Given the description of an element on the screen output the (x, y) to click on. 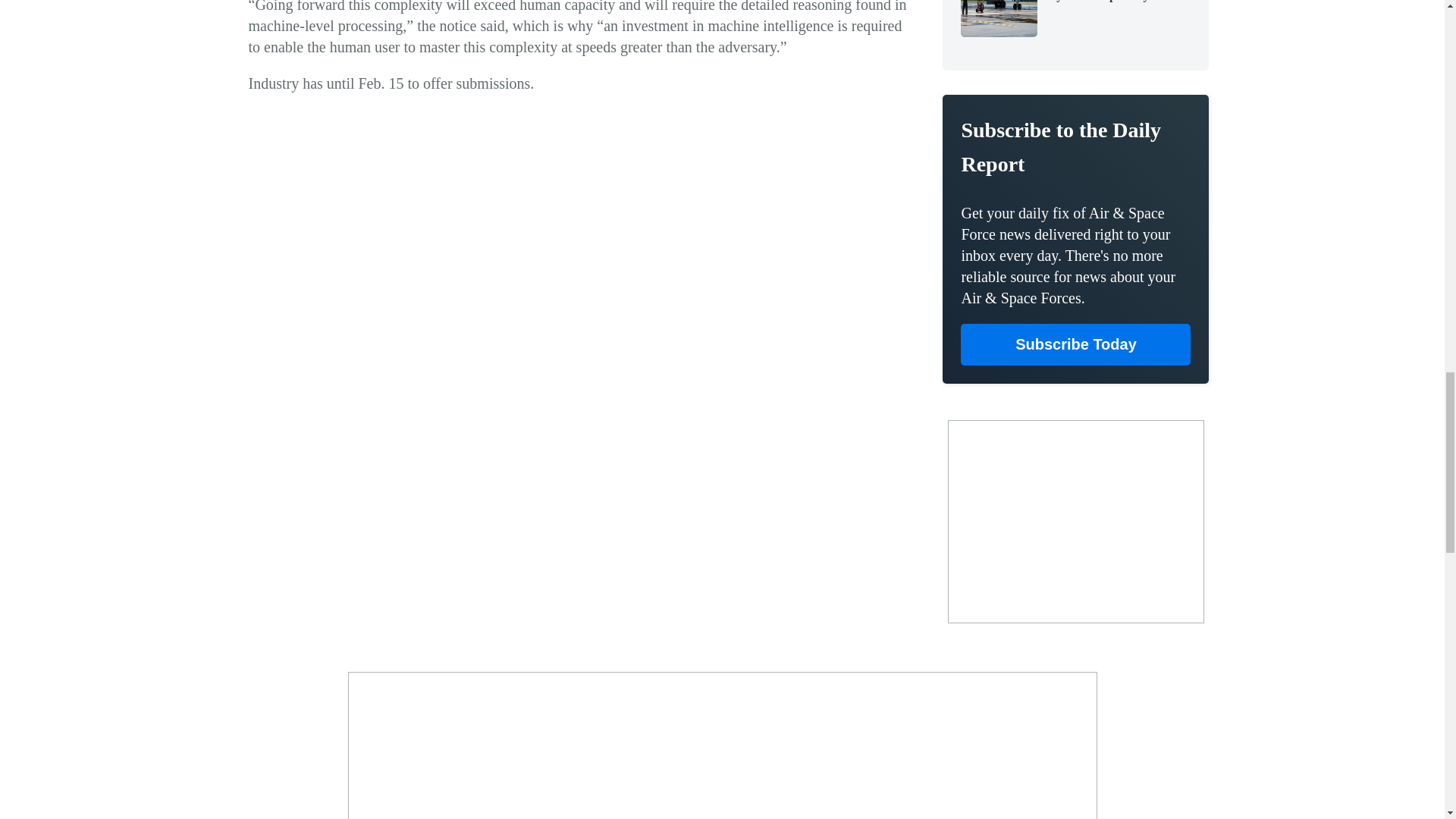
3rd party ad content (722, 748)
3rd party ad content (1075, 521)
